Given the description of an element on the screen output the (x, y) to click on. 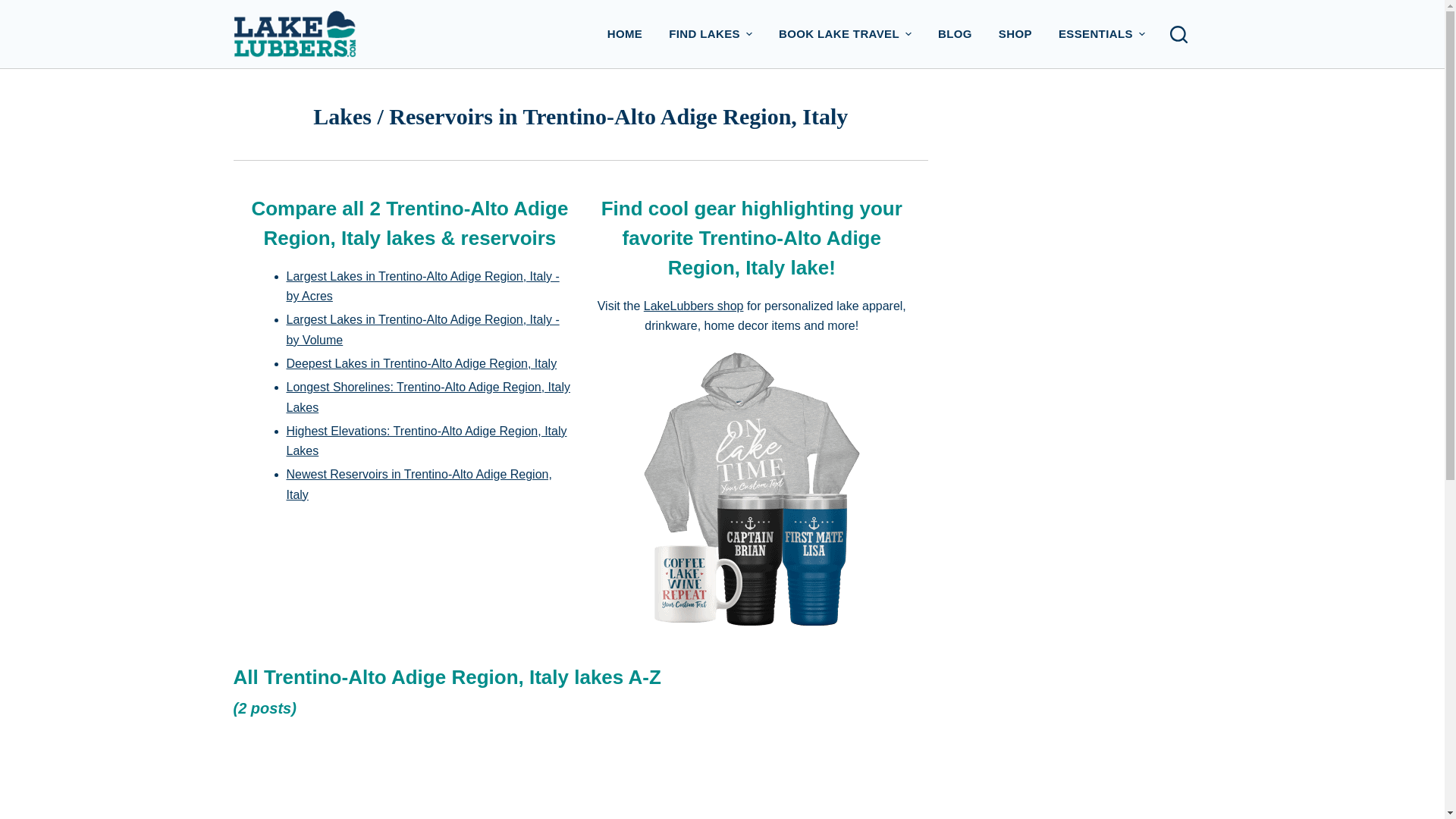
BOOK LAKE TRAVEL (844, 33)
FIND LAKES (710, 33)
Skip to content (15, 7)
HOME (625, 33)
